Given the description of an element on the screen output the (x, y) to click on. 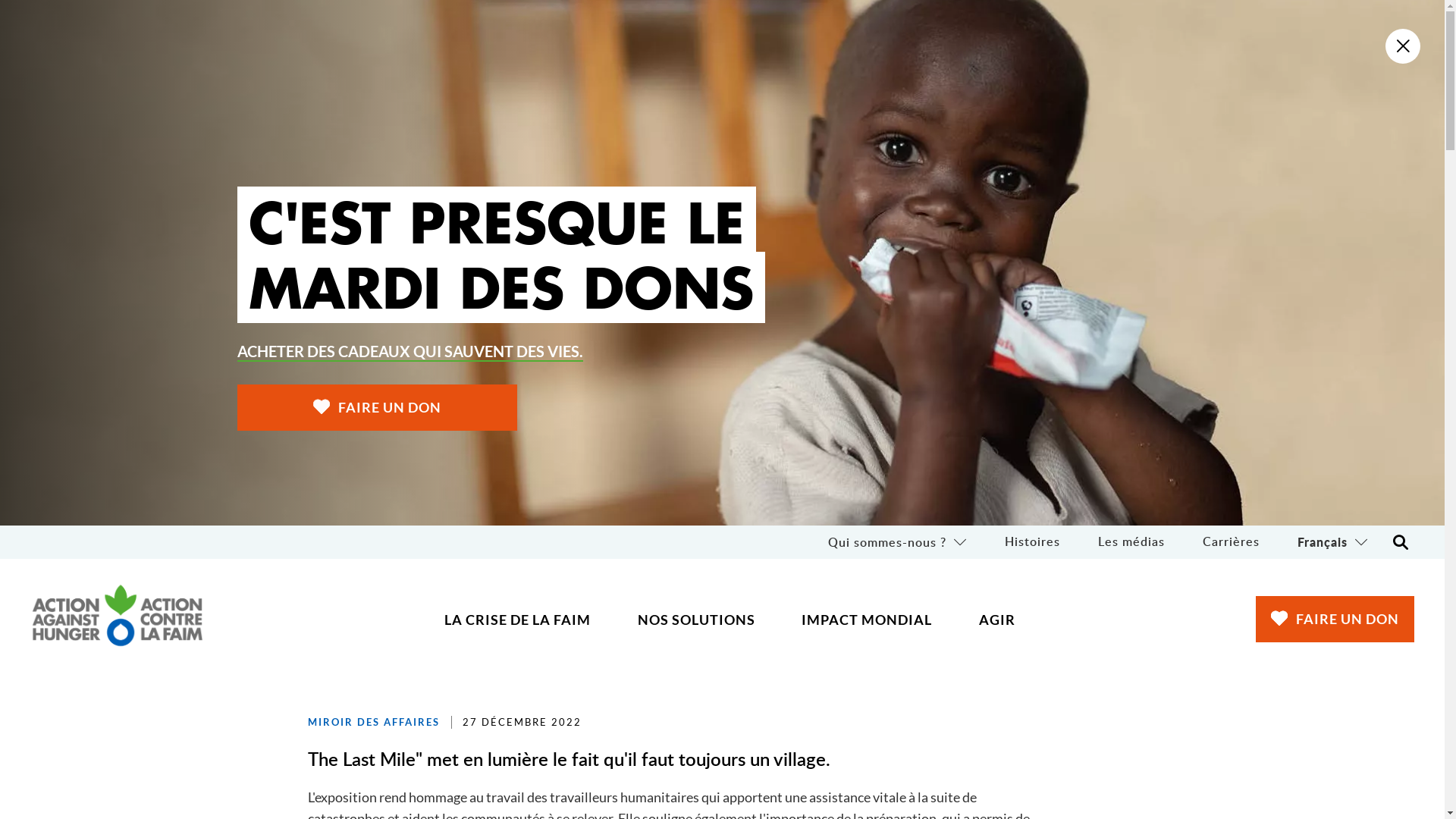
IMPACT MONDIAL Element type: text (866, 619)
Histoires Element type: text (1032, 541)
FAIRE UN DON Element type: text (1334, 619)
Qui sommes-nous ? Element type: text (897, 541)
LA CRISE DE LA FAIM Element type: text (517, 619)
Fermer l'alerte Element type: text (1402, 45)
ACHETER DES CADEAUX QUI SAUVENT DES VIES. Element type: text (409, 351)
Skip to main content Element type: text (0, 0)
AGIR Element type: text (996, 619)
NOS SOLUTIONS Element type: text (696, 619)
FAIRE UN DON Element type: text (376, 407)
